Given the description of an element on the screen output the (x, y) to click on. 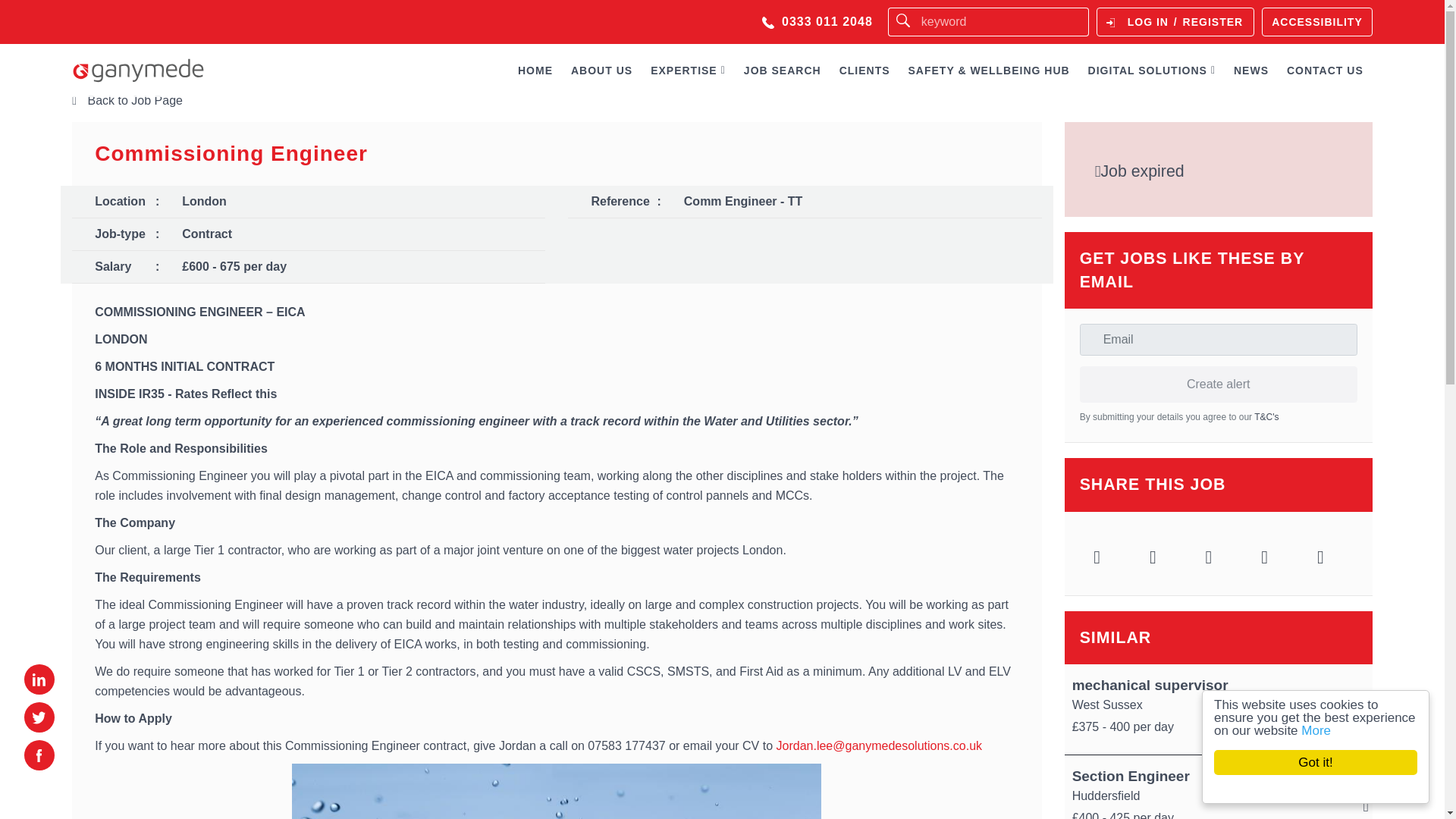
EXPERTISE (688, 70)
LinkedIn (1208, 557)
REGISTER (1212, 21)
Twitter (1096, 557)
LOG IN (1147, 21)
More (1330, 730)
CLIENTS (864, 70)
HOME (535, 70)
Got it! (1329, 762)
Go to the Homepage (138, 69)
